Given the description of an element on the screen output the (x, y) to click on. 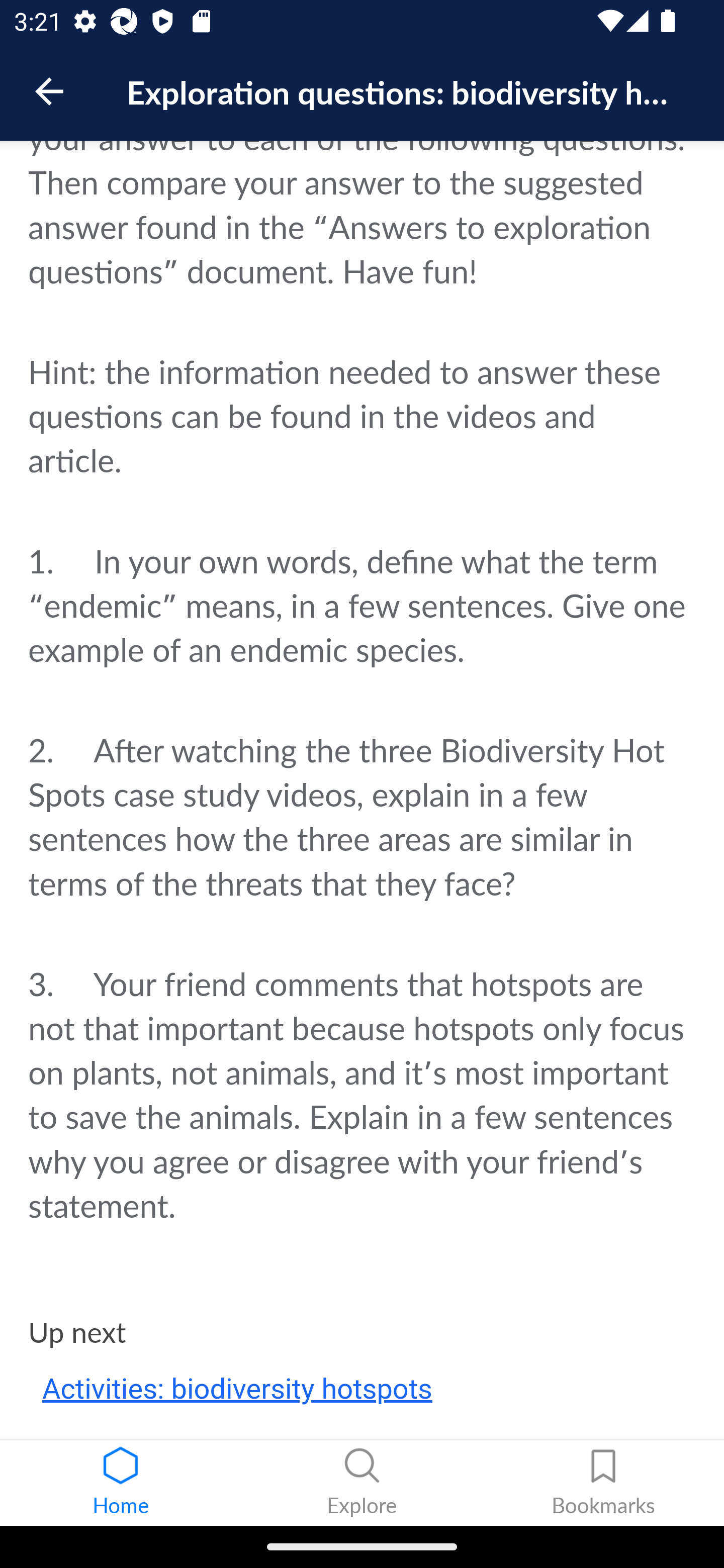
Navigate up (49, 91)
Activities: biodiversity hotspots (237, 1390)
Home (120, 1482)
Explore (361, 1482)
Bookmarks (603, 1482)
